Given the description of an element on the screen output the (x, y) to click on. 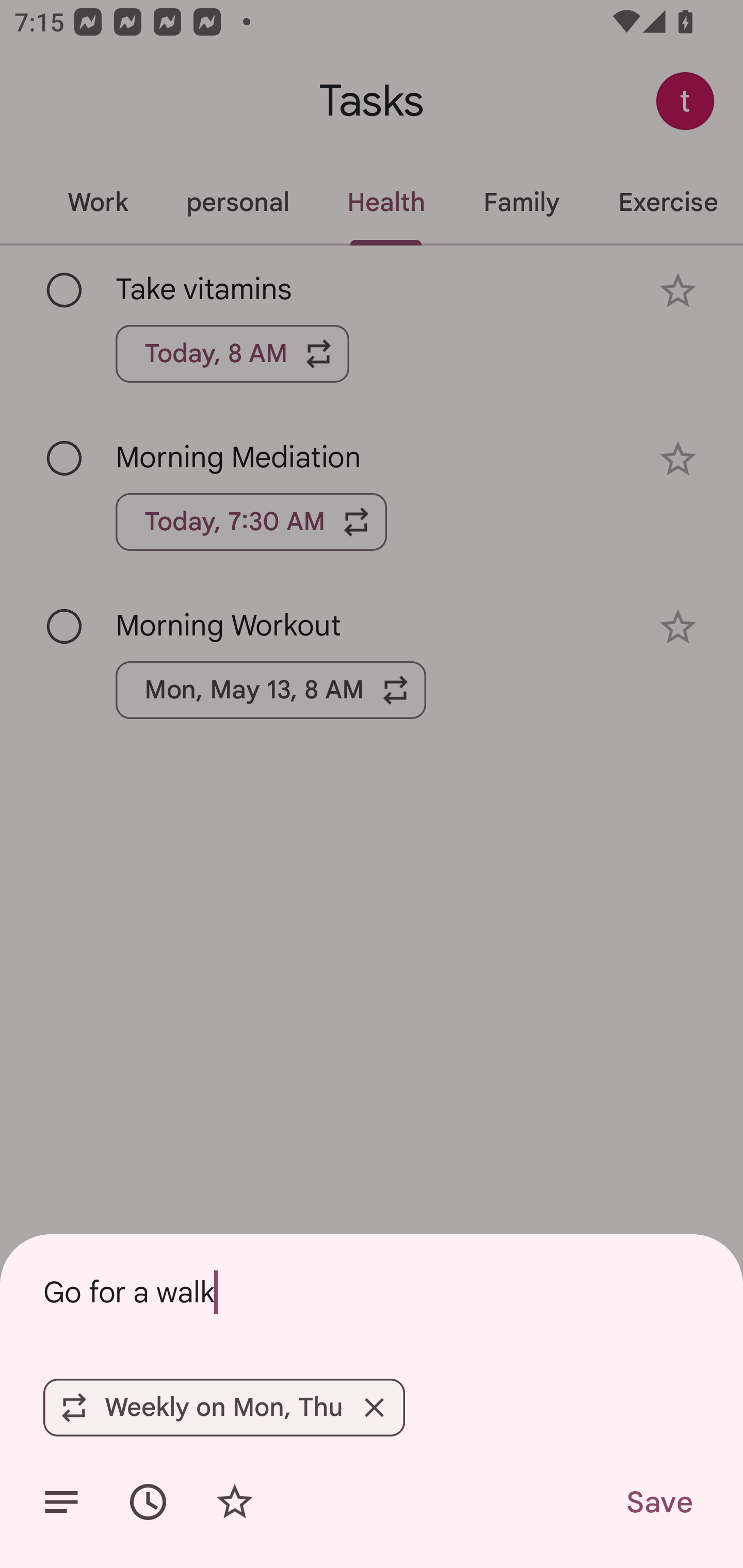
Go for a walk (371, 1291)
Weekly on Mon, Thu Remove Weekly on Mon, Thu (223, 1407)
Save (659, 1501)
Add details (60, 1501)
Set date/time (147, 1501)
Add star (234, 1501)
